Given the description of an element on the screen output the (x, y) to click on. 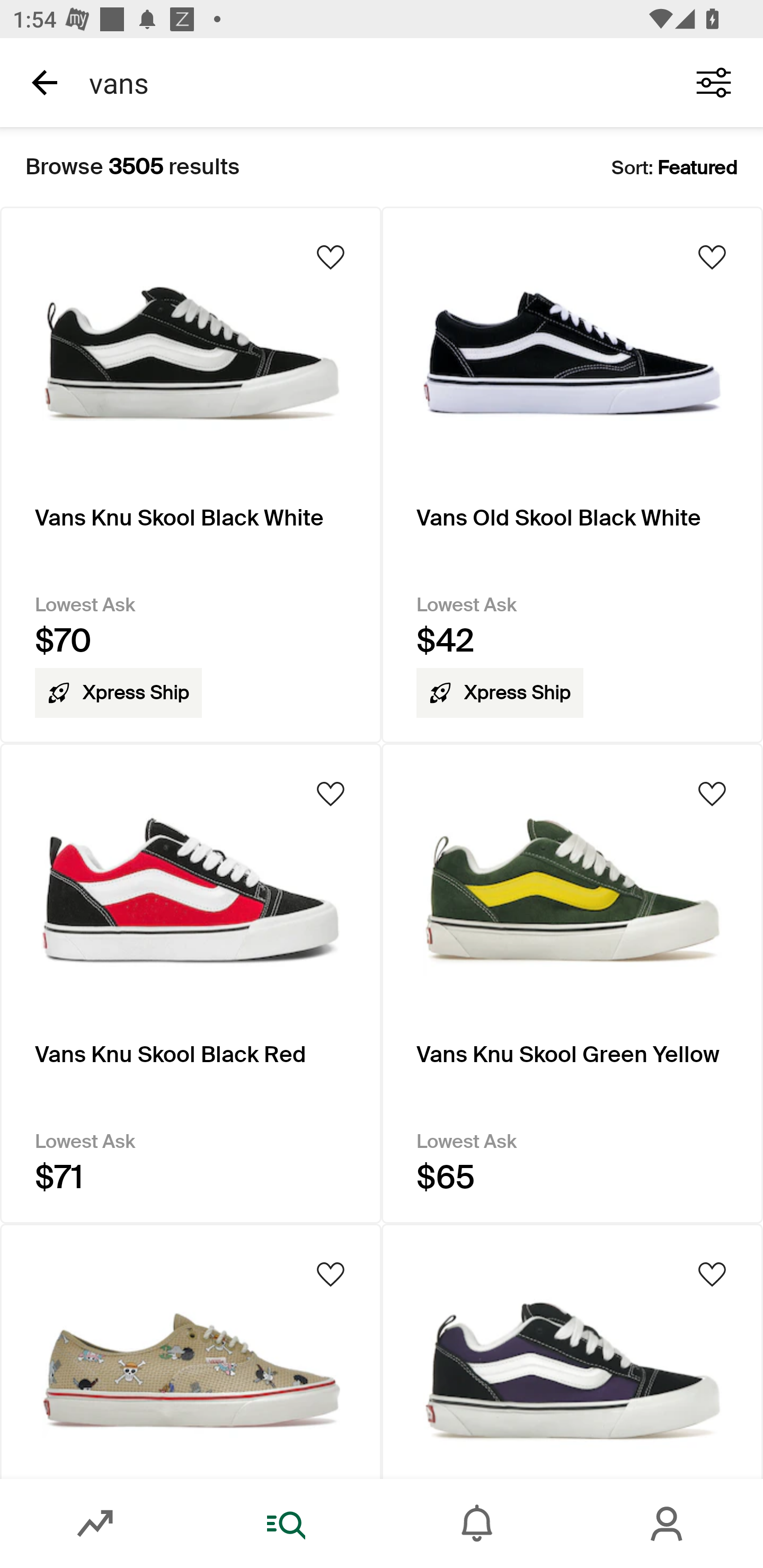
vans (370, 82)
Product Image (190, 1350)
Product Image (572, 1350)
Market (95, 1523)
Inbox (476, 1523)
Account (667, 1523)
